Given the description of an element on the screen output the (x, y) to click on. 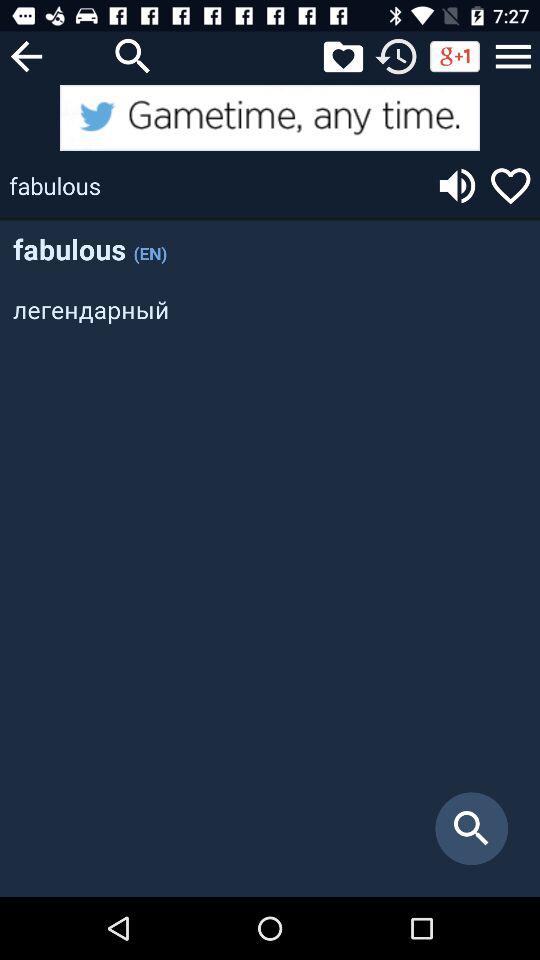
search (133, 56)
